Given the description of an element on the screen output the (x, y) to click on. 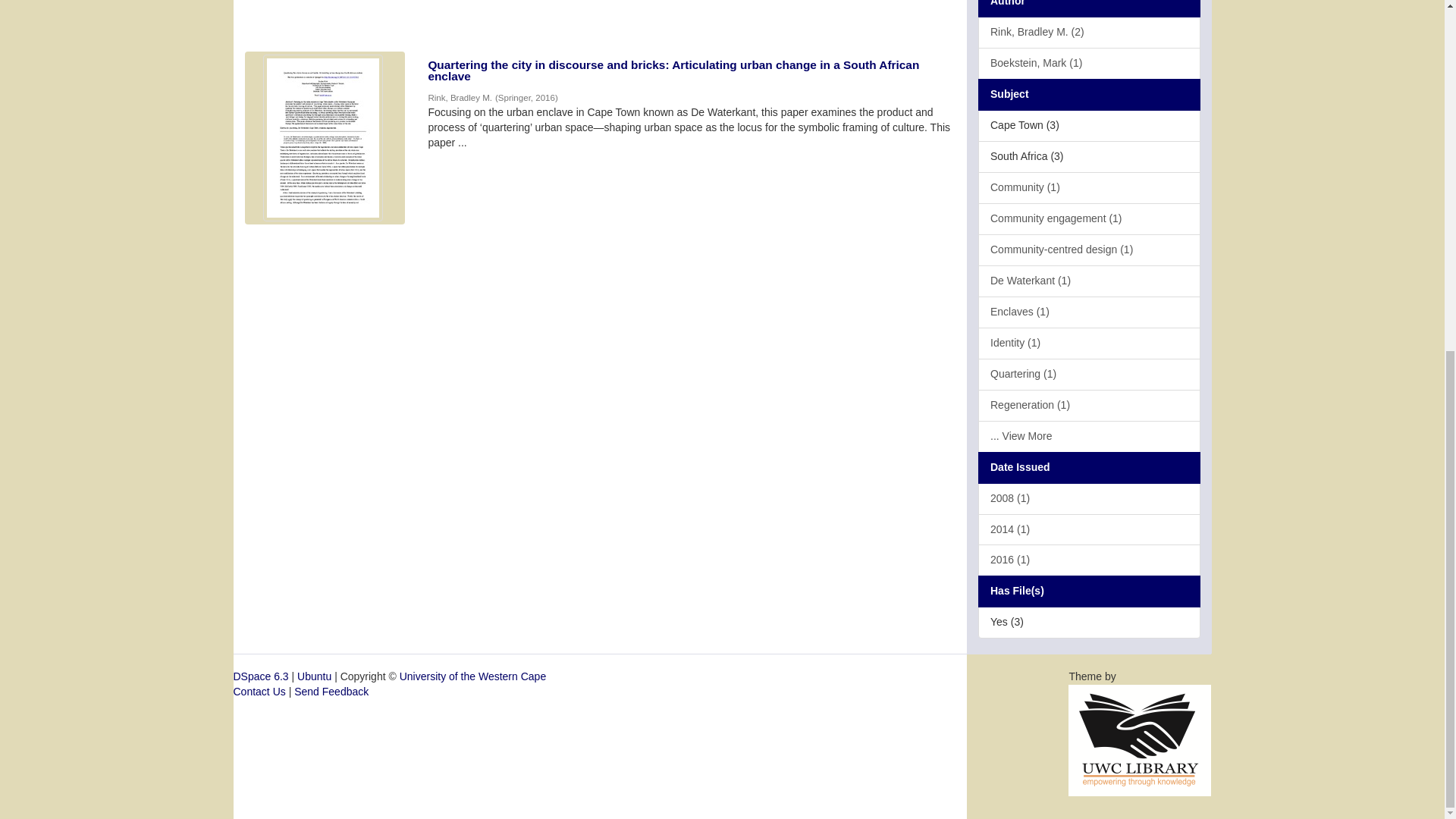
Atmire NV (1139, 739)
